Given the description of an element on the screen output the (x, y) to click on. 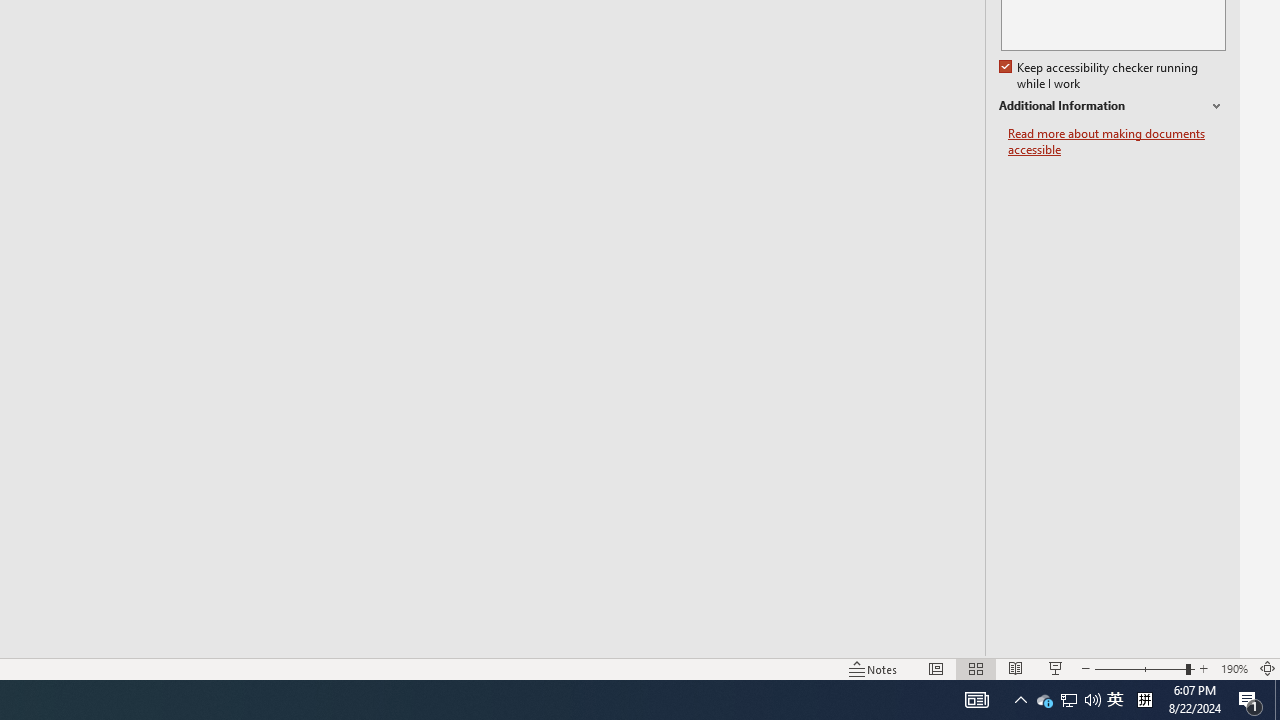
Additional Information (1112, 106)
Zoom 190% (1234, 668)
Keep accessibility checker running while I work (1099, 76)
Read more about making documents accessible (1117, 142)
